Given the description of an element on the screen output the (x, y) to click on. 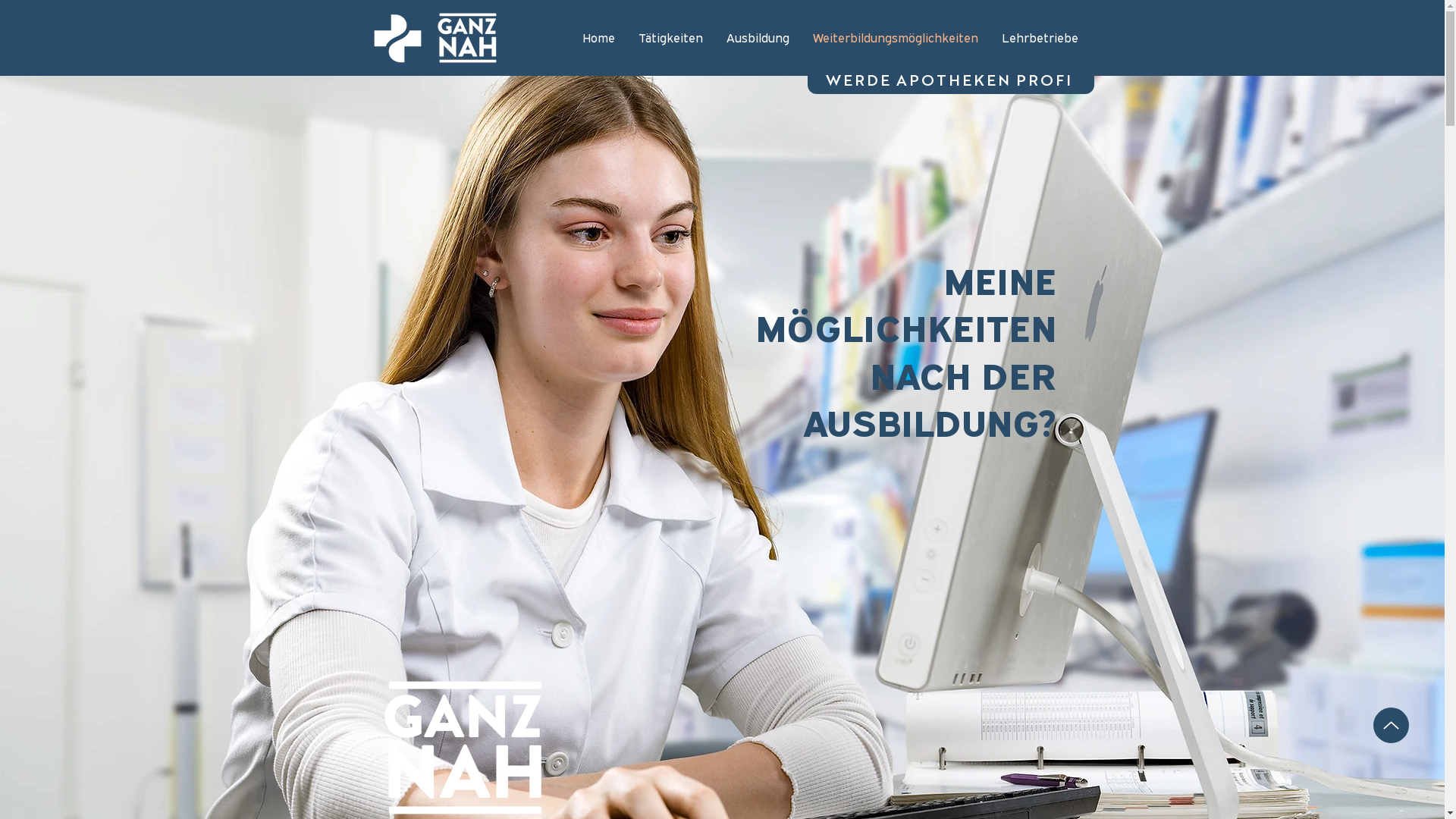
Home Element type: text (598, 37)
WERDE APOTHEKEN PROFI Element type: text (949, 78)
Lehrbetriebe Element type: text (1040, 37)
Ausbildung Element type: text (757, 37)
